Given the description of an element on the screen output the (x, y) to click on. 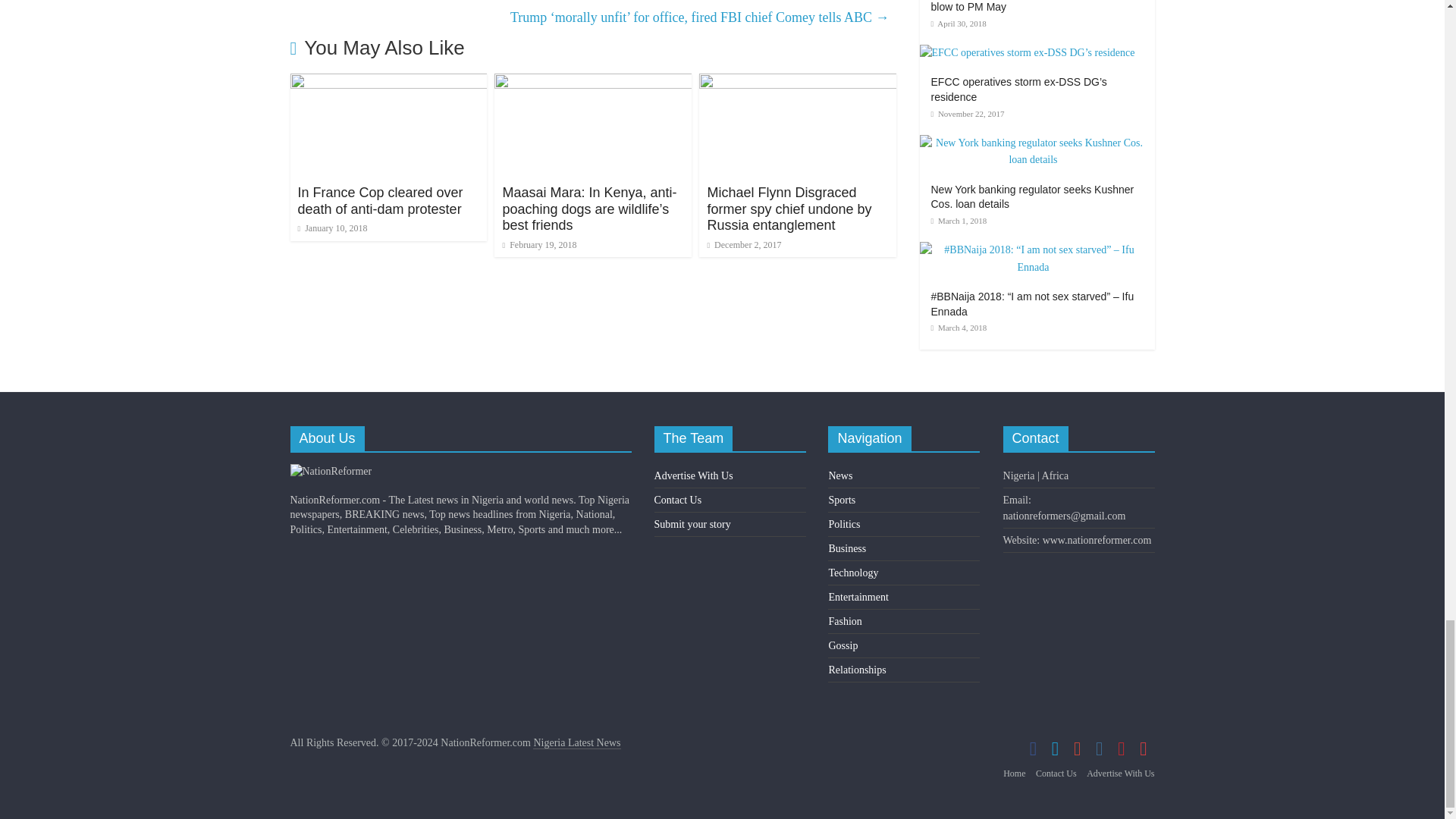
January 10, 2018 (331, 227)
In France Cop cleared over death of anti-dam protester (387, 82)
In France Cop cleared over death of anti-dam protester (380, 201)
February 19, 2018 (539, 244)
In France Cop cleared over death of anti-dam protester (380, 201)
5:05 am (331, 227)
6:45 am (539, 244)
